Given the description of an element on the screen output the (x, y) to click on. 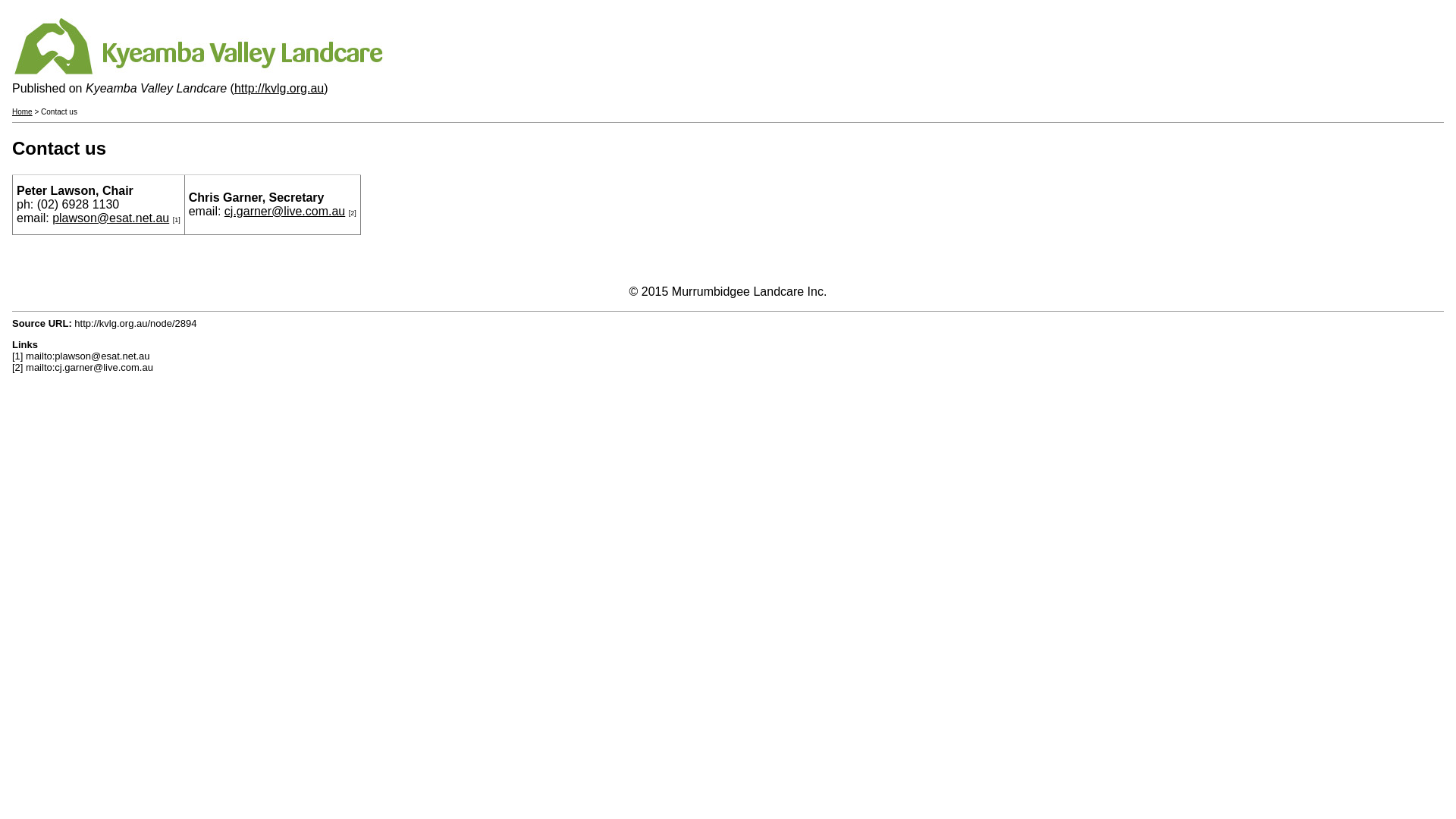
plawson@esat.net.au Element type: text (110, 217)
http://kvlg.org.au Element type: text (278, 87)
cj.garner@live.com.au Element type: text (284, 210)
Home Element type: text (22, 111)
